Given the description of an element on the screen output the (x, y) to click on. 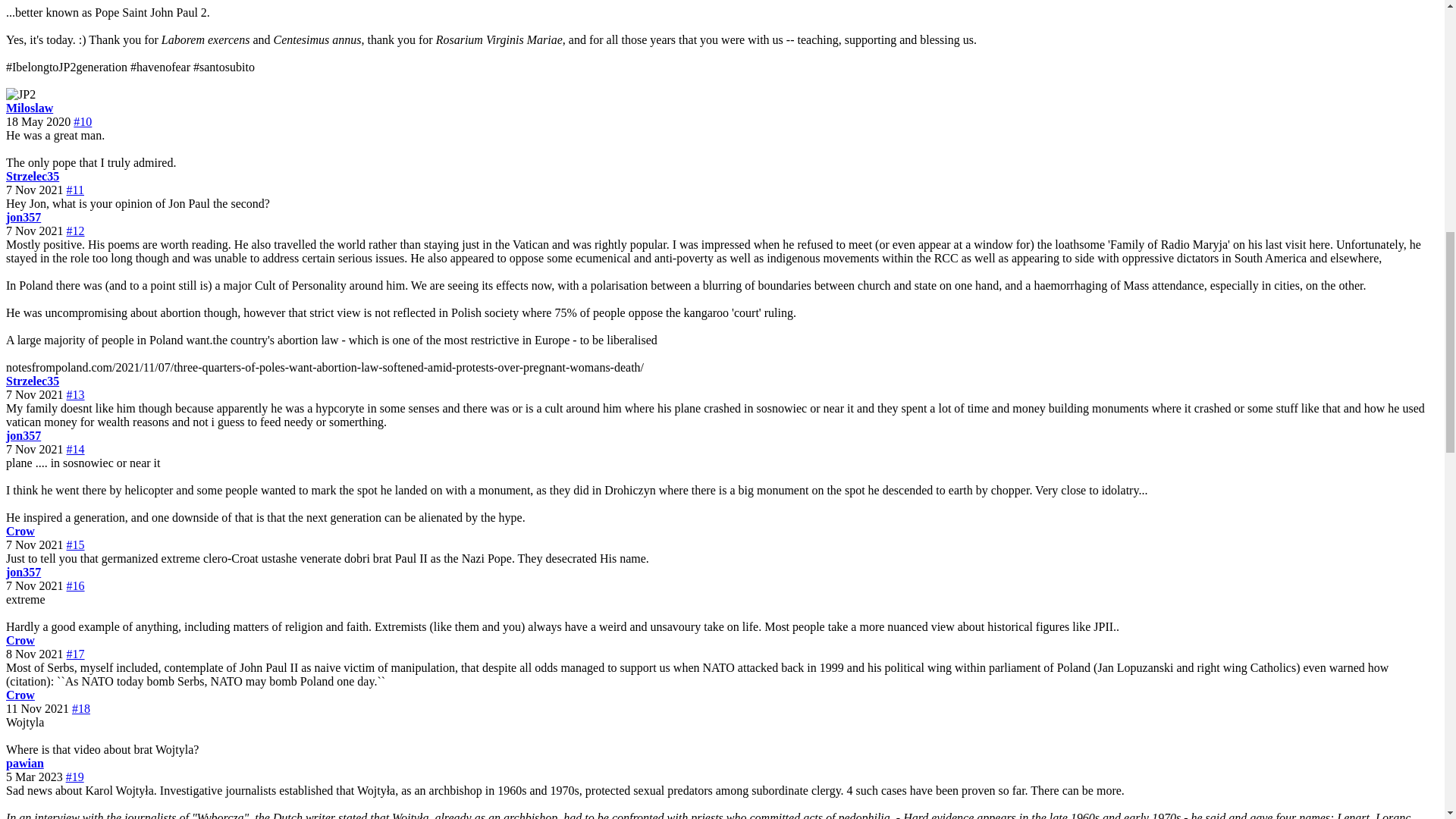
JP2 (22, 216)
Strzelec35 (19, 94)
Crow (32, 380)
jon357 (19, 694)
Strzelec35 (22, 571)
jon357 (32, 175)
Miloslaw (22, 216)
Crow (22, 435)
Crow (19, 530)
